Given the description of an element on the screen output the (x, y) to click on. 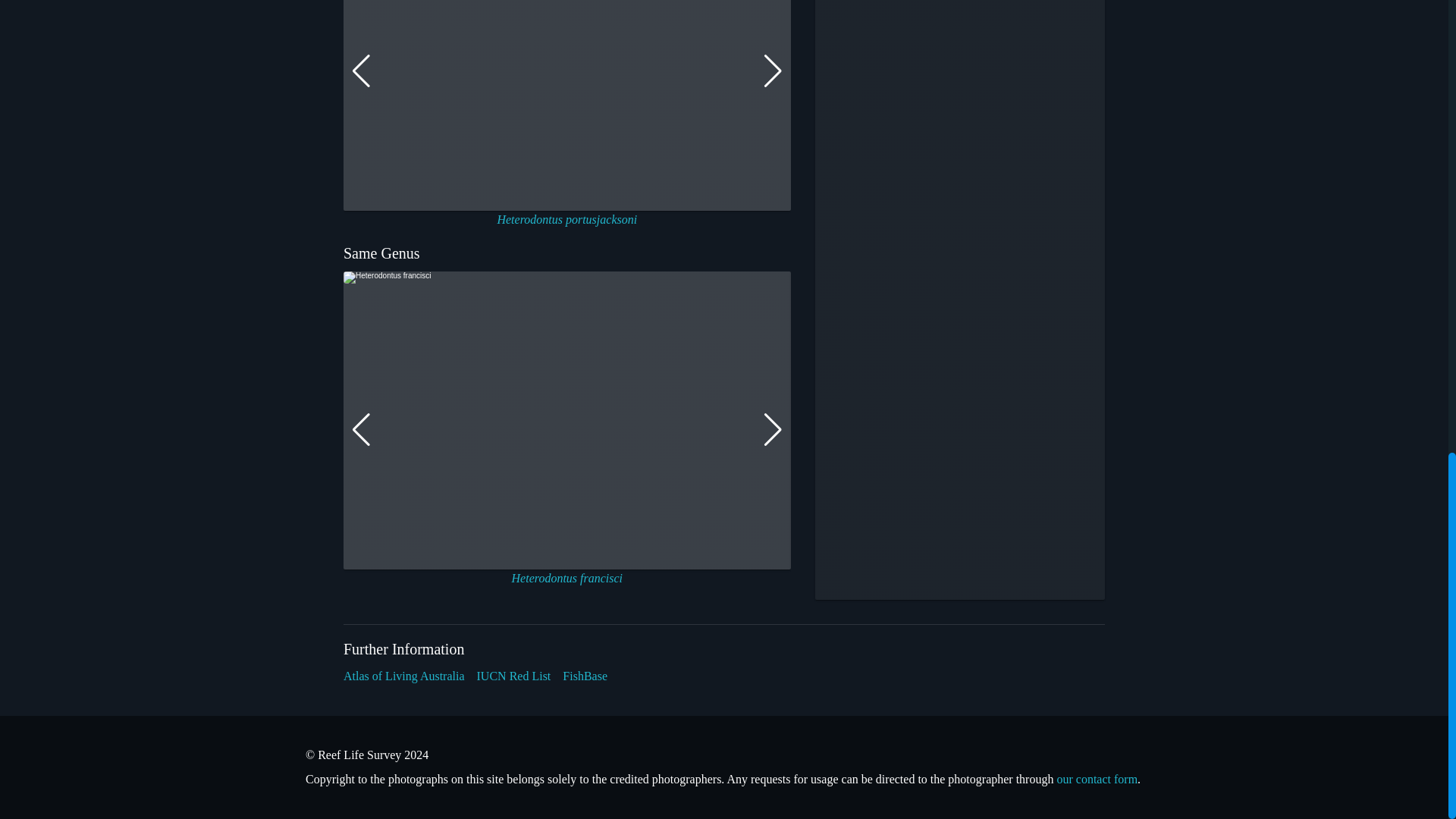
FishBase (584, 675)
our contact form (1097, 779)
IUCN Red List (514, 675)
Heterodontus francisci (567, 577)
Heterodontus portusjacksoni (566, 219)
Atlas of Living Australia (403, 675)
